Given the description of an element on the screen output the (x, y) to click on. 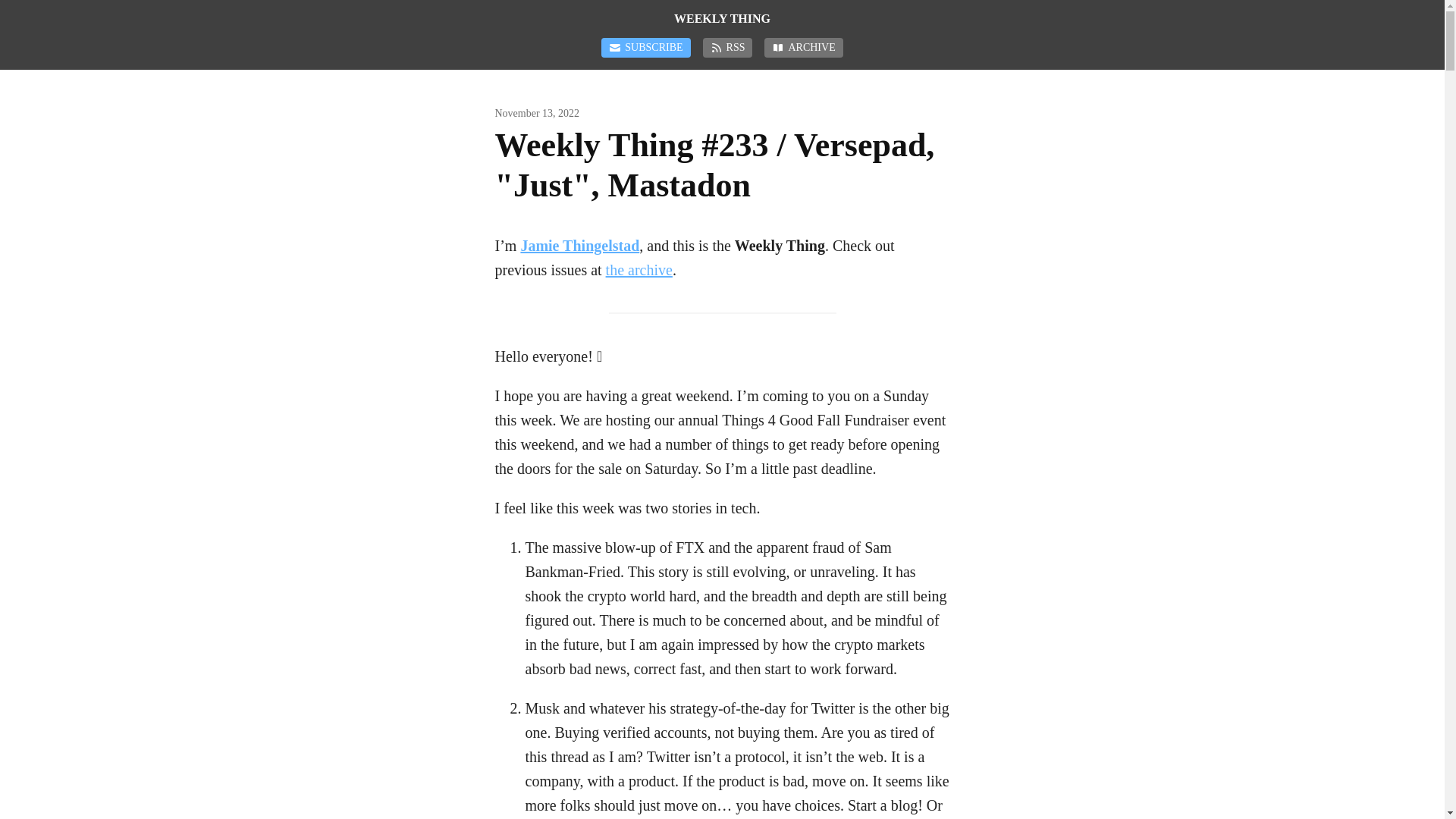
the archive (638, 269)
ARCHIVE (803, 47)
RSS (727, 47)
WEEKLY THING (722, 18)
SUBSCRIBE (645, 47)
Jamie Thingelstad (579, 245)
